Given the description of an element on the screen output the (x, y) to click on. 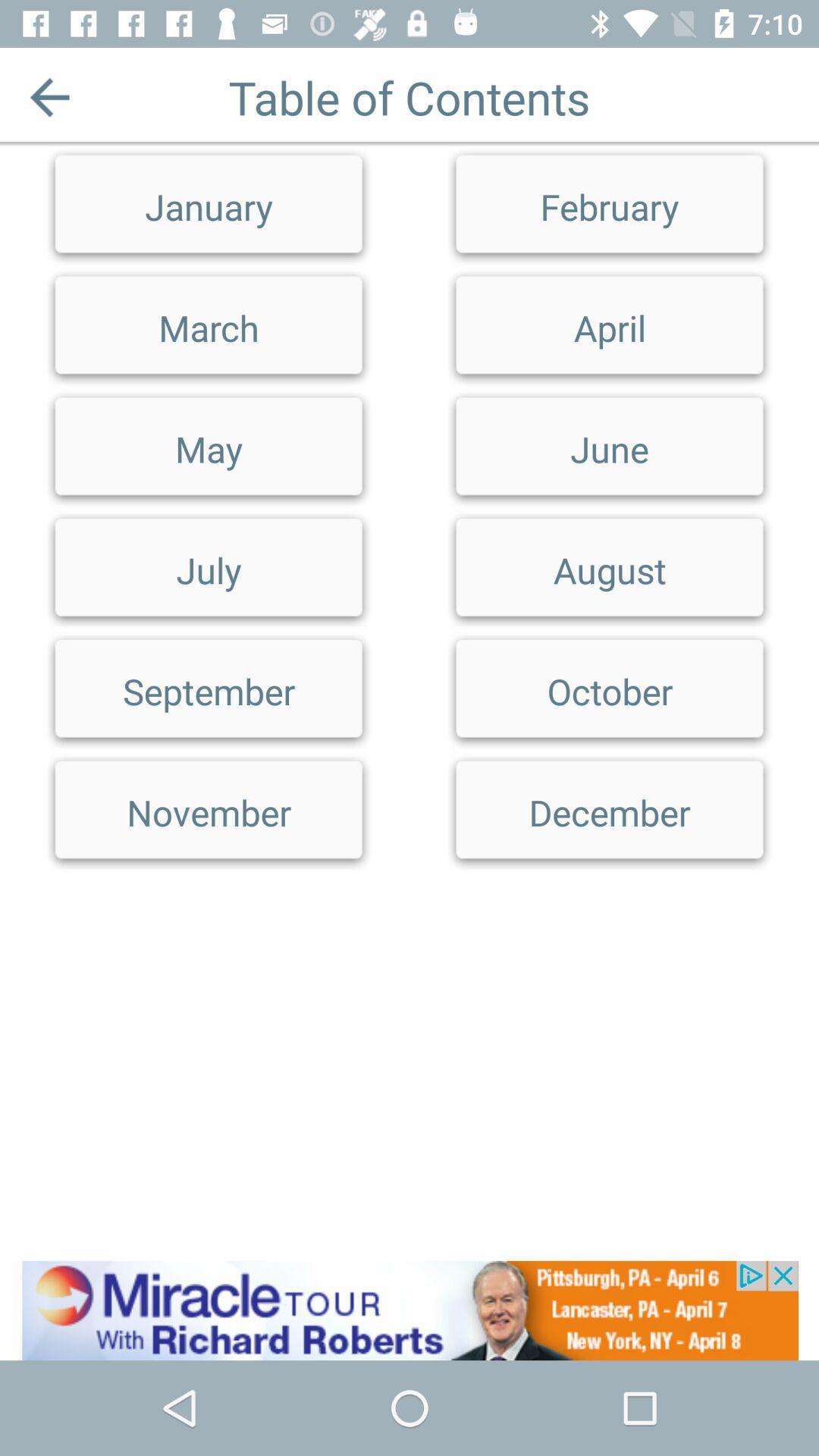
back (49, 97)
